Given the description of an element on the screen output the (x, y) to click on. 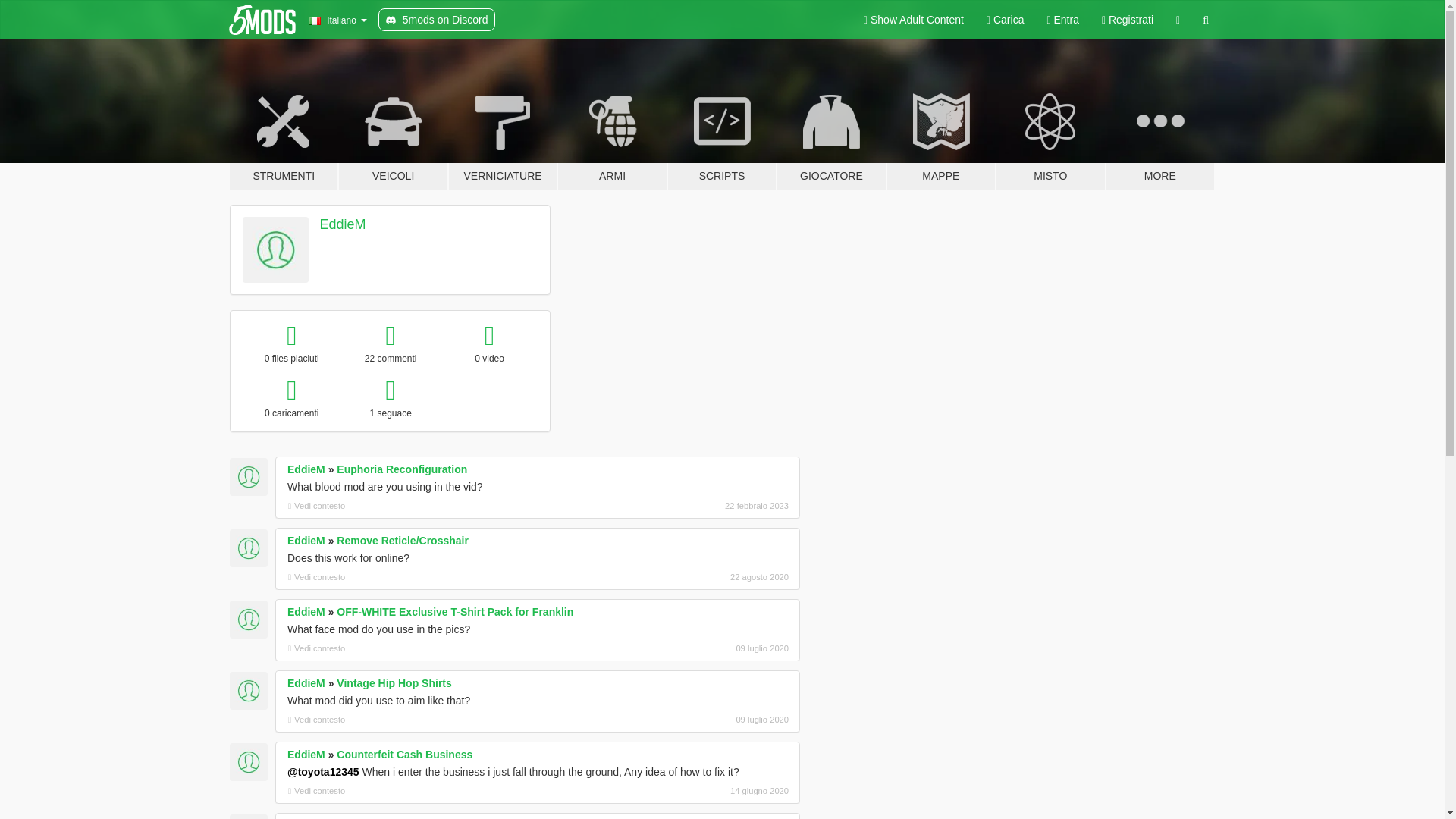
Light mode (913, 19)
Registrati (1127, 19)
5mods on Discord (436, 19)
Show Adult Content (913, 19)
  Italiano (336, 19)
Carica (1005, 19)
Entra (1062, 19)
